Given the description of an element on the screen output the (x, y) to click on. 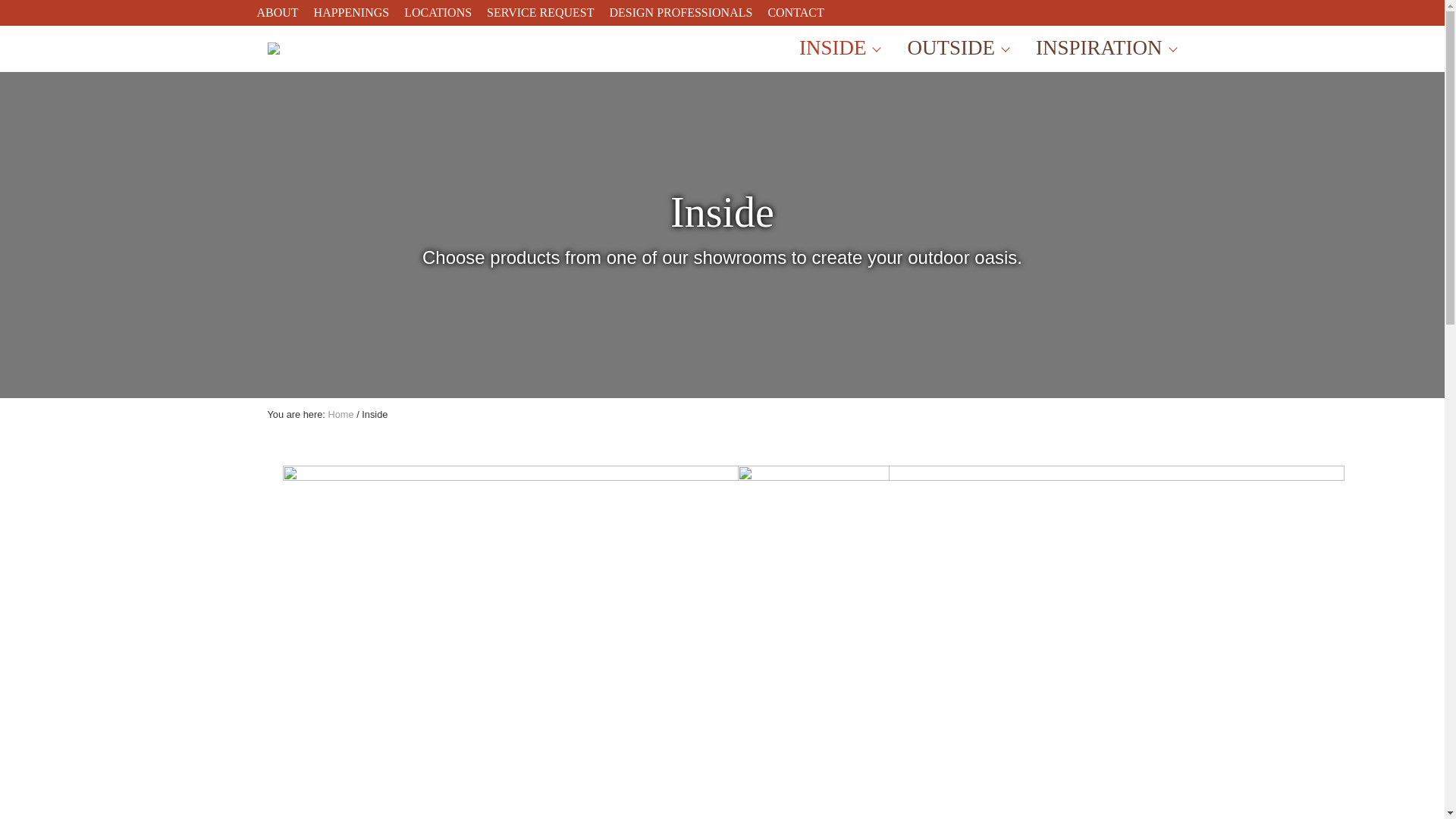
Instagram (1122, 12)
YouTube (1180, 12)
Facebook (1093, 12)
Pinterest (1151, 12)
